Given the description of an element on the screen output the (x, y) to click on. 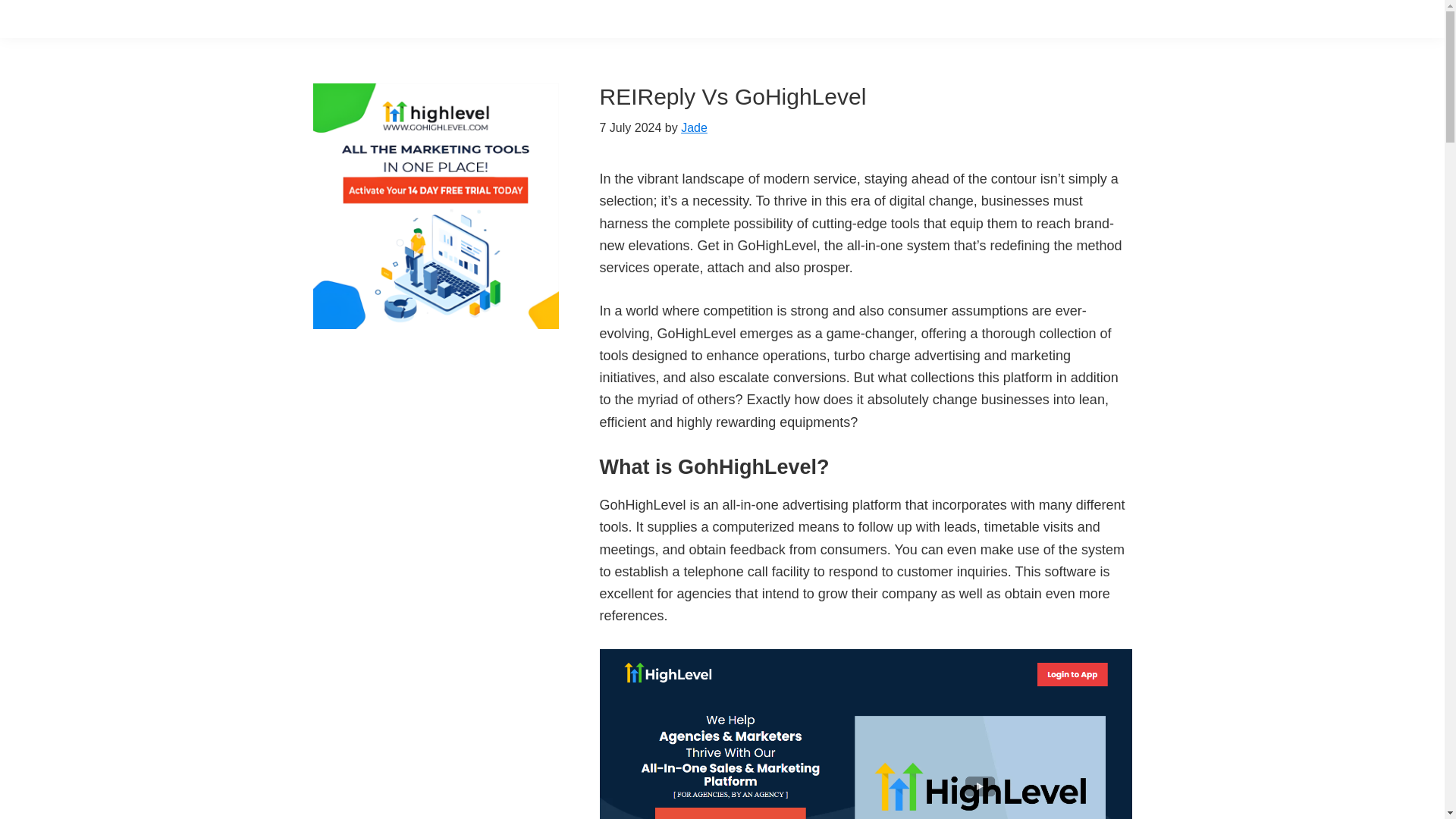
Jade (694, 127)
